Given the description of an element on the screen output the (x, y) to click on. 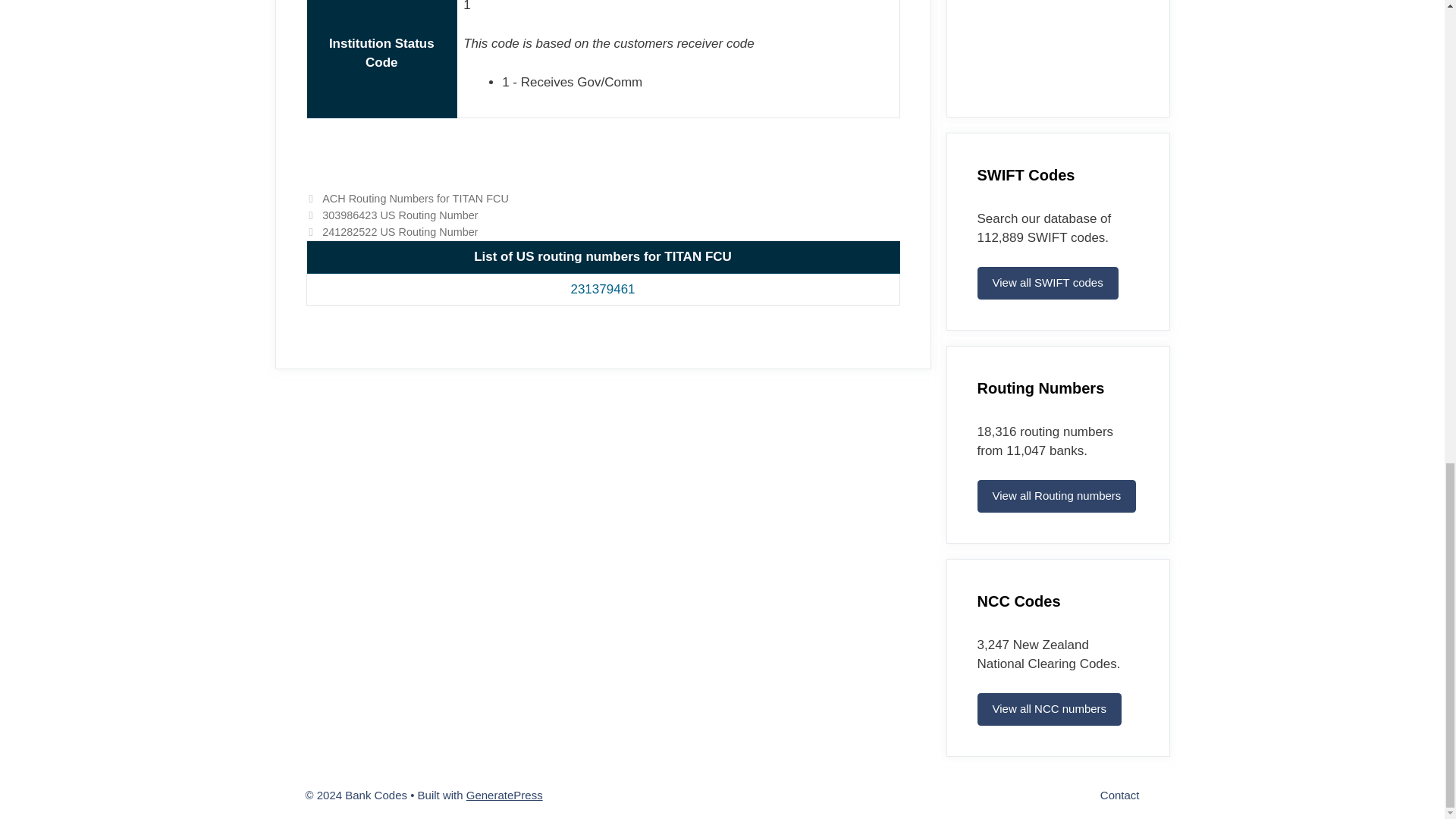
Advertisement (1057, 42)
GeneratePress (504, 793)
View all NCC numbers (1048, 708)
Contact (1120, 793)
303986423 US Routing Number (399, 215)
View all Routing numbers (1055, 495)
View all SWIFT codes (1047, 282)
ACH Routing Numbers for TITAN FCU (414, 198)
241282522 US Routing Number (399, 232)
231379461 (602, 288)
